Given the description of an element on the screen output the (x, y) to click on. 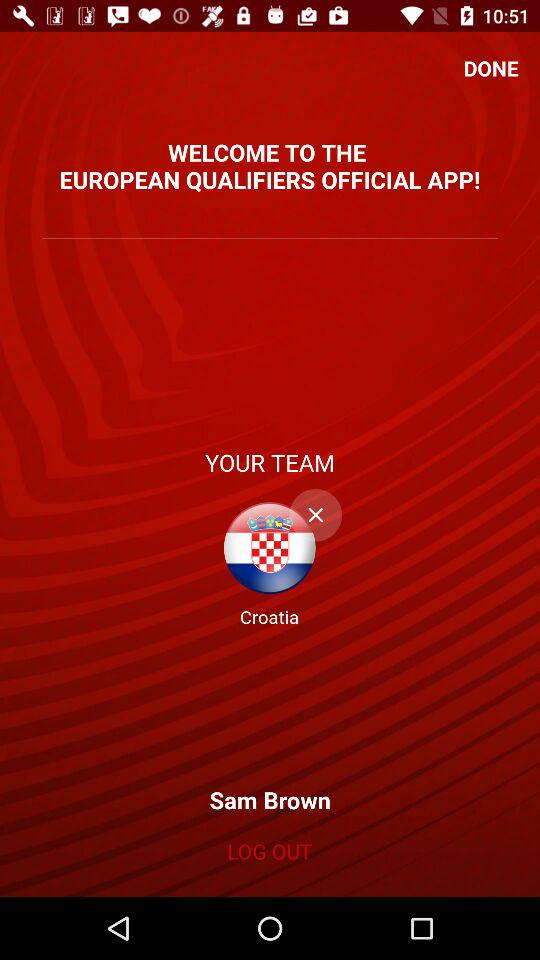
close button (315, 515)
